Given the description of an element on the screen output the (x, y) to click on. 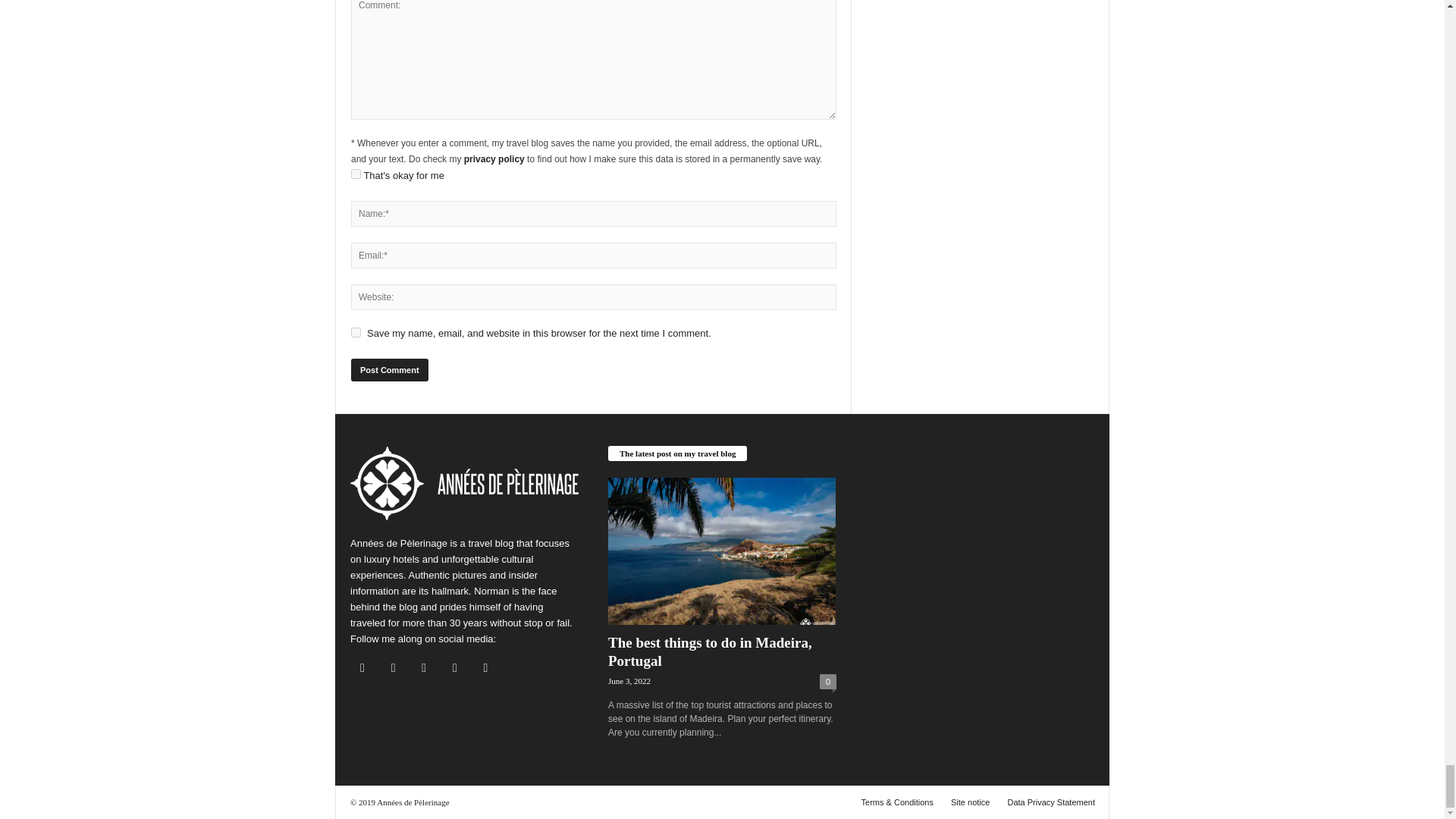
yes (355, 332)
on (355, 173)
Post Comment (389, 369)
